Given the description of an element on the screen output the (x, y) to click on. 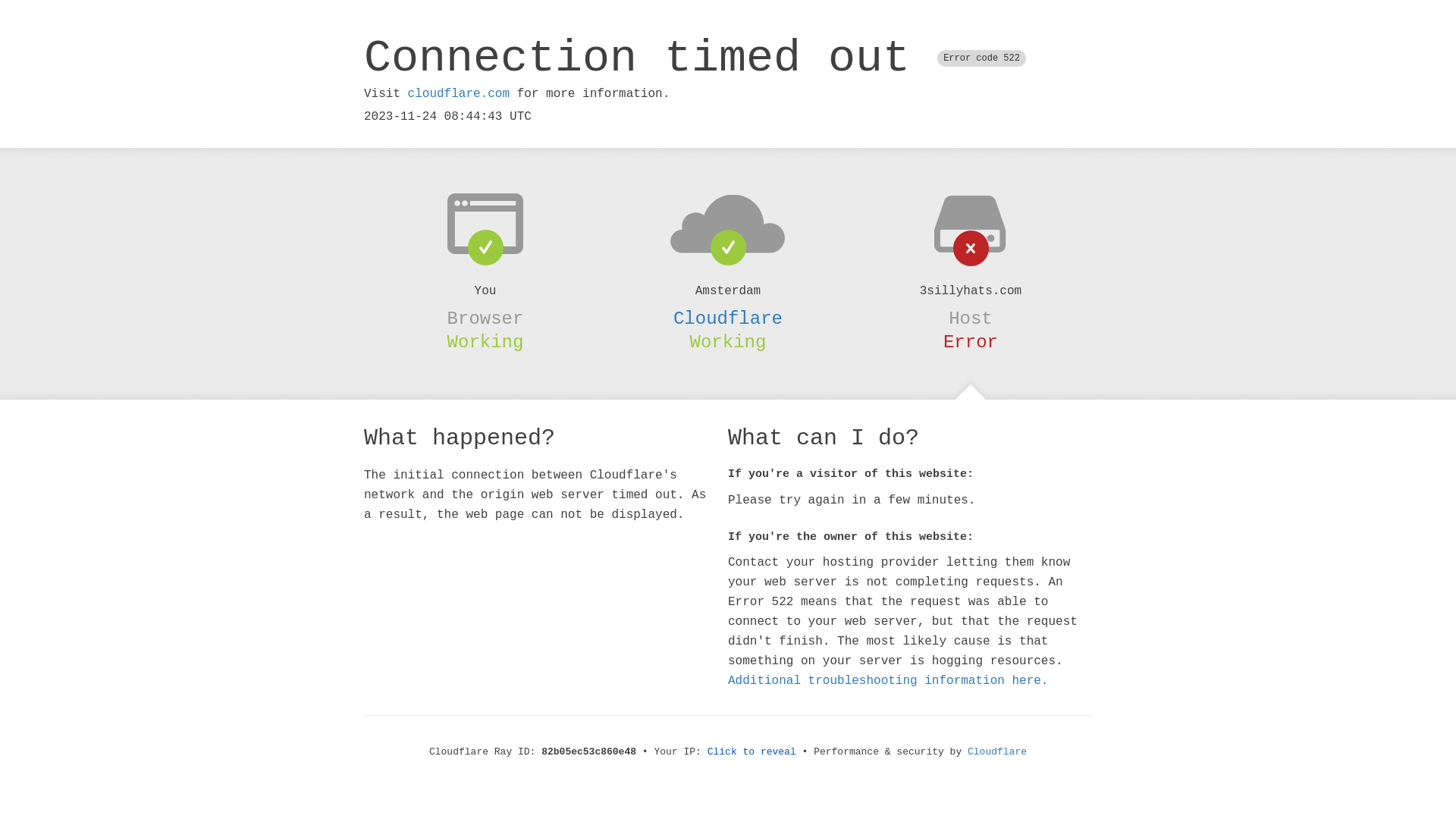
Cloudflare Element type: text (996, 751)
Cloudflare Element type: text (727, 318)
cloudflare.com Element type: text (458, 93)
Additional troubleshooting information here. Element type: text (888, 680)
Click to reveal Element type: text (751, 751)
